Given the description of an element on the screen output the (x, y) to click on. 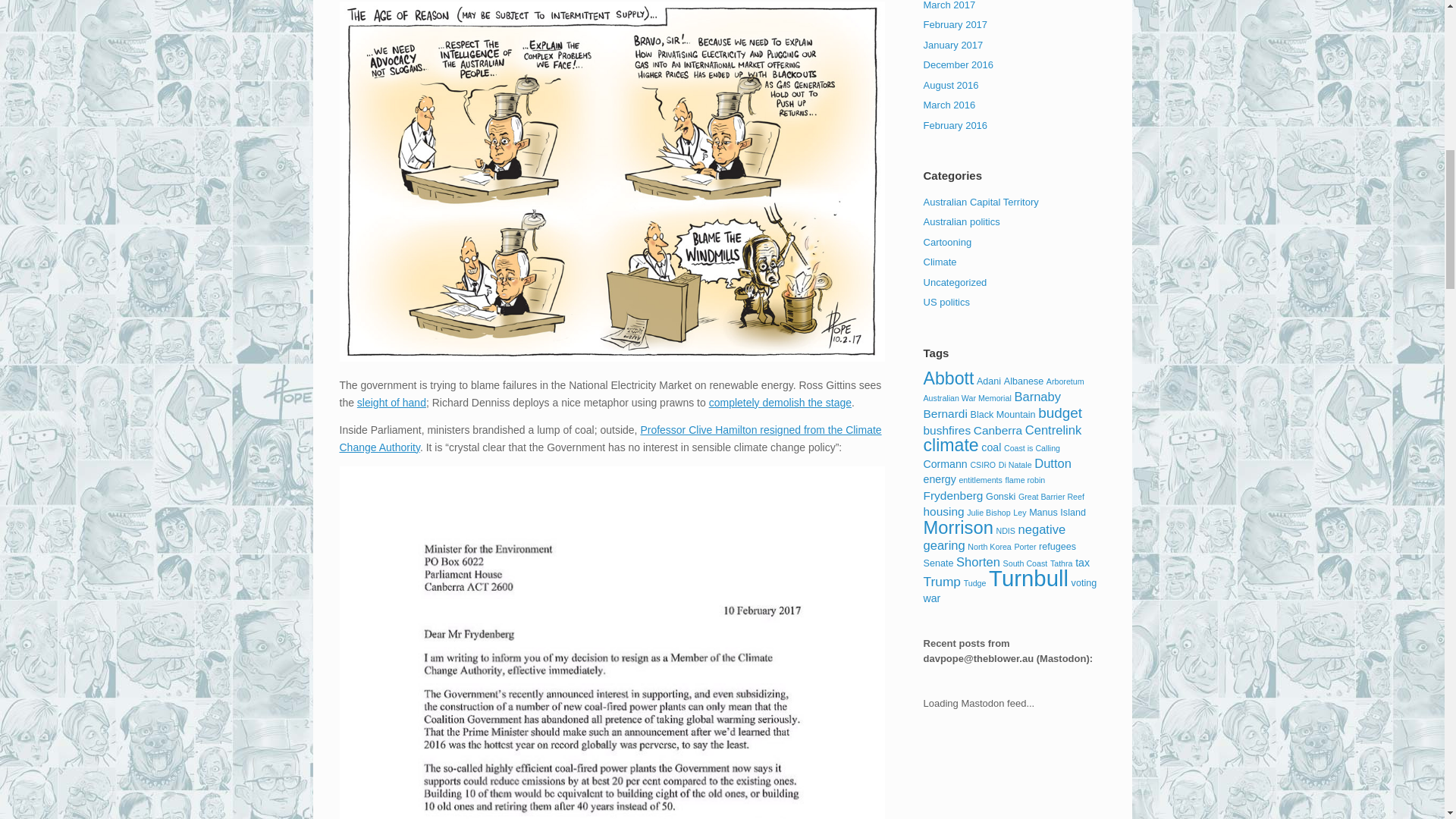
sleight of hand (391, 402)
completely demolish the stage (780, 402)
